Given the description of an element on the screen output the (x, y) to click on. 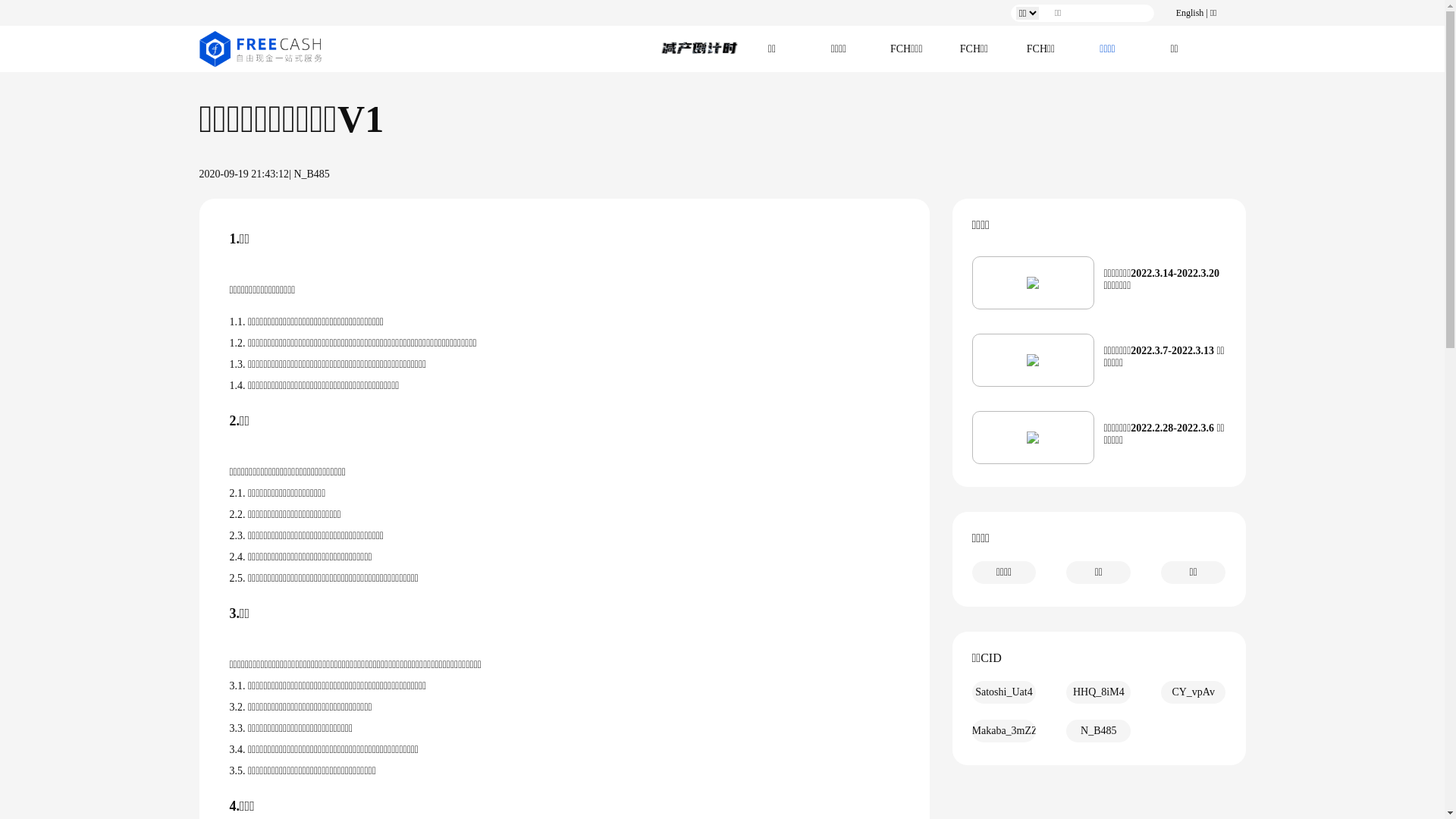
Satoshi_Uat4 Element type: text (1004, 691)
English Element type: text (1190, 12)
N_B485 Element type: text (1098, 730)
HHQ_8iM4 Element type: text (1098, 691)
CY_vpAv Element type: text (1193, 691)
Makaba_3mZZ Element type: text (1004, 730)
N_B485 Element type: text (311, 173)
